Given the description of an element on the screen output the (x, y) to click on. 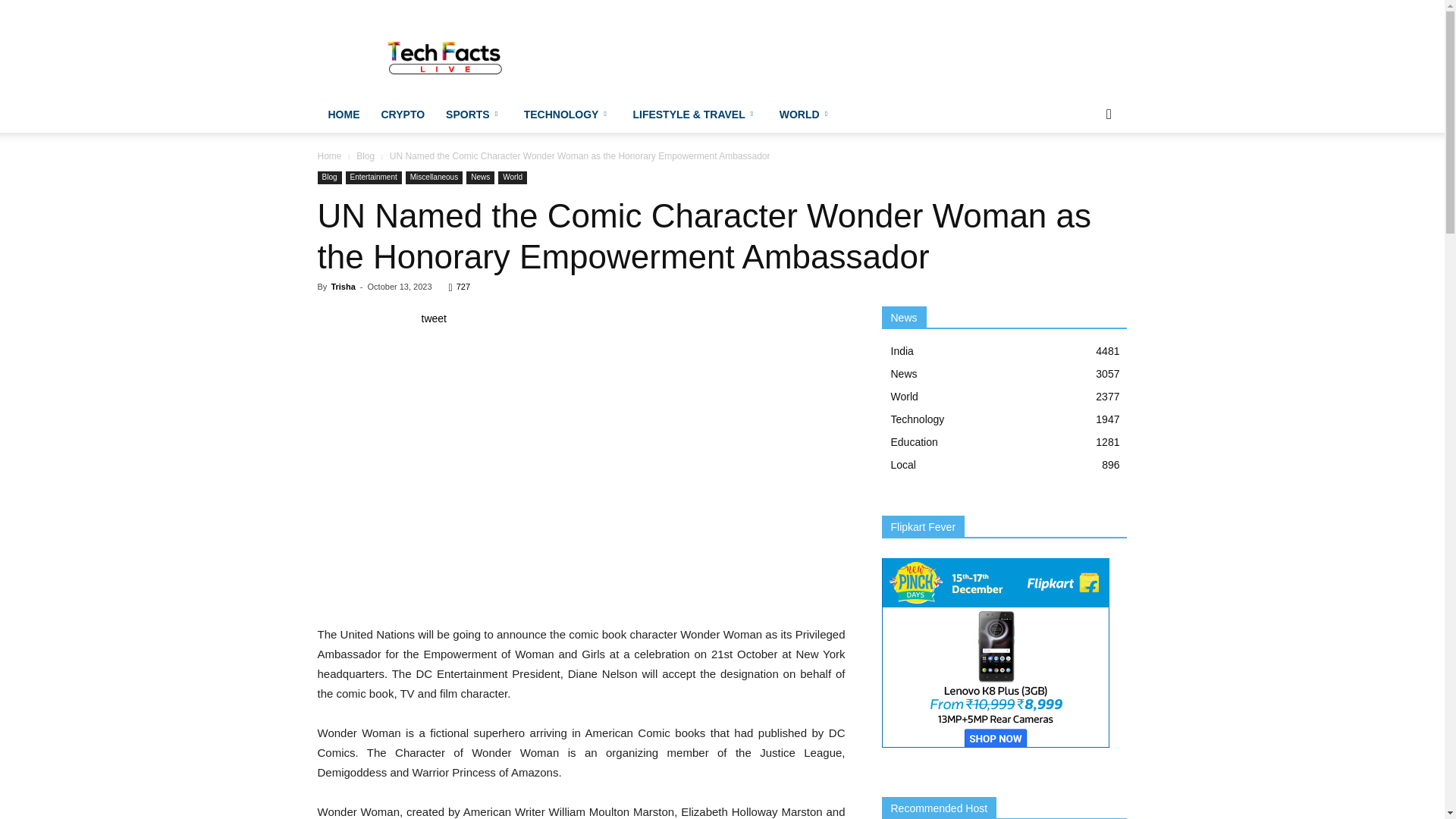
TF Live (446, 55)
CRYPTO (402, 114)
TECHNOLOGY (568, 114)
SPORTS (474, 114)
WORLD (805, 114)
View all posts in Blog (365, 155)
HOME (343, 114)
